Given the description of an element on the screen output the (x, y) to click on. 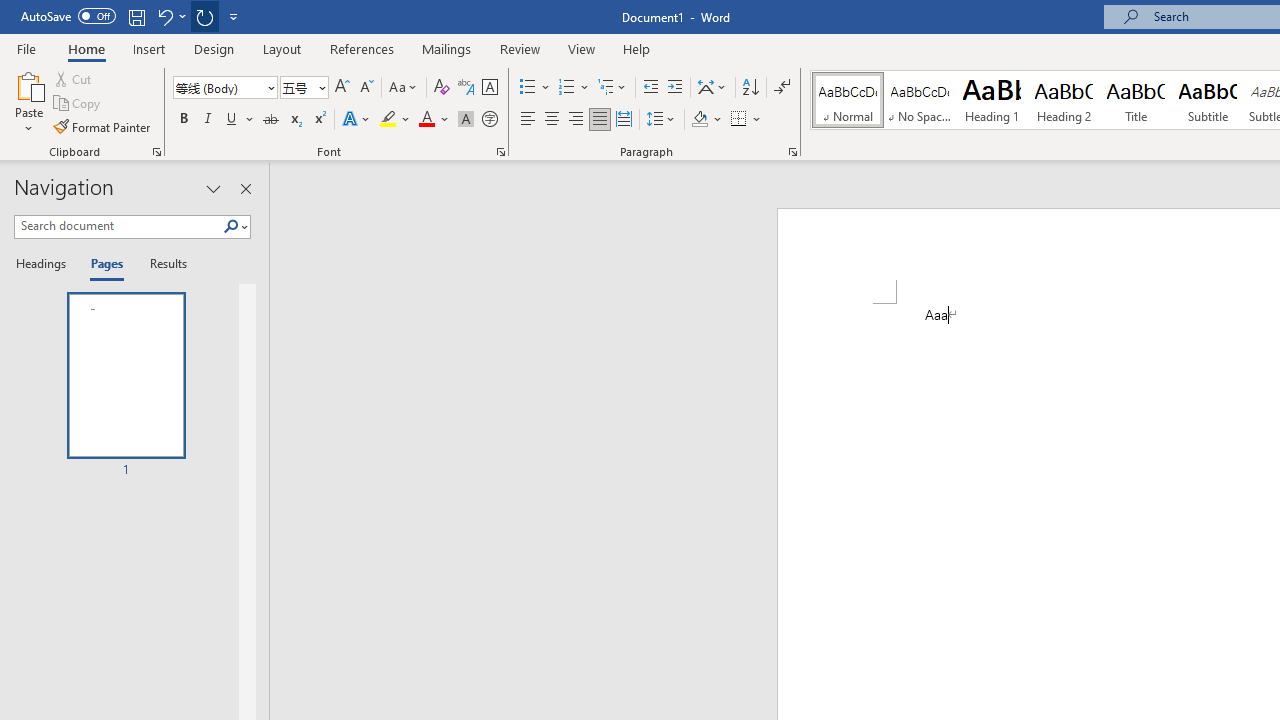
Undo Apply Quick Style (164, 15)
